Given the description of an element on the screen output the (x, y) to click on. 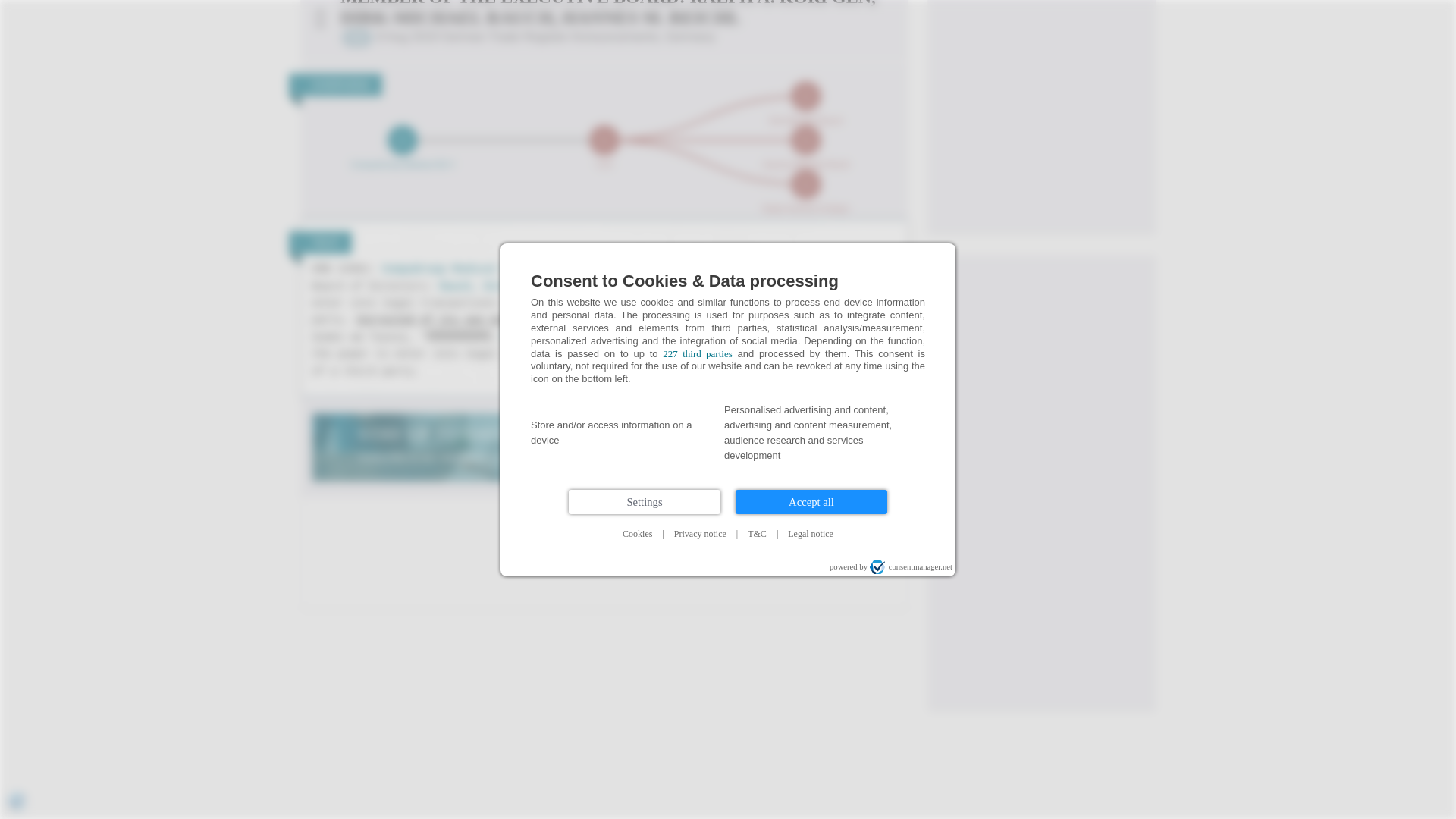
227 third parties (697, 9)
Settings (644, 158)
Rauch, Dirk-Michael (499, 286)
Accept all (810, 158)
Privacy settings (17, 458)
Legal notice (810, 190)
Privacy notice (699, 190)
CompuGroup Medical SE (448, 268)
consentmanager.net (910, 223)
Purpose (727, 90)
Reichl, Hannes Michael (573, 337)
Cookies (636, 190)
